Given the description of an element on the screen output the (x, y) to click on. 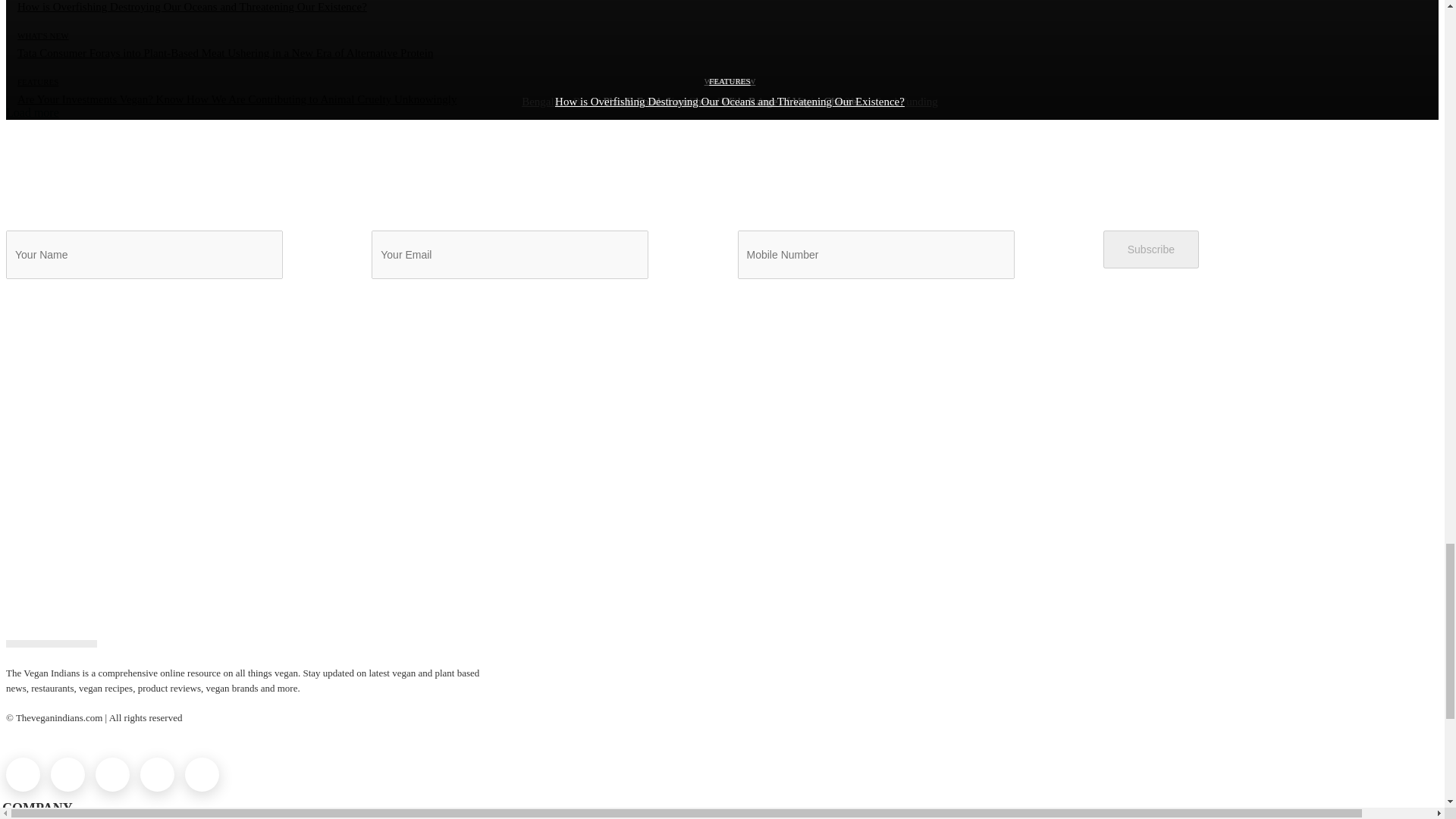
Subscribe (1150, 249)
